Given the description of an element on the screen output the (x, y) to click on. 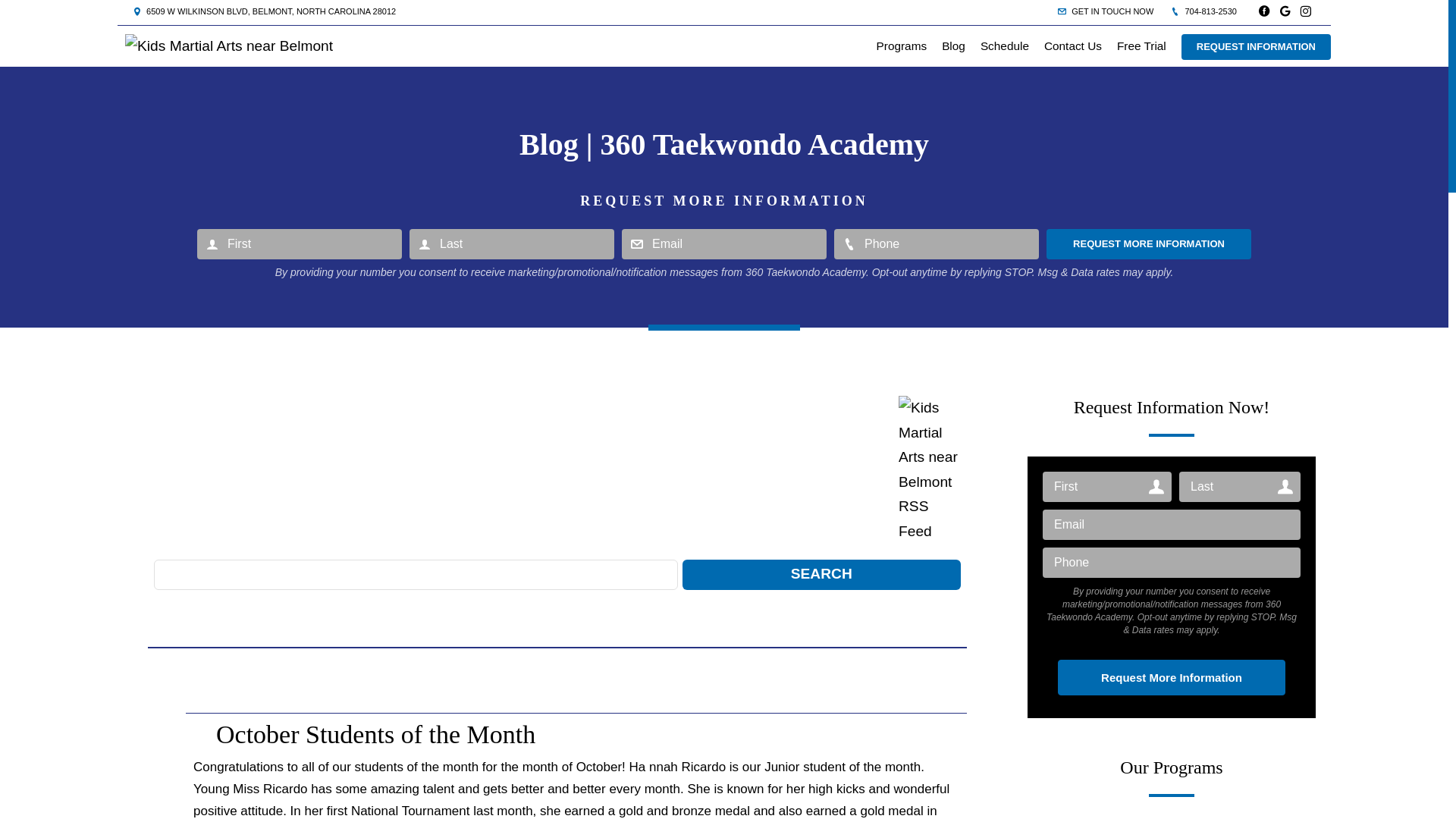
GET IN TOUCH NOW Element type: text (1105, 10)
Blog Element type: text (953, 45)
REQUEST INFORMATION Element type: text (1255, 46)
Required Element type: hover (1171, 524)
Request More Information Element type: text (1171, 677)
Required Element type: hover (1171, 562)
Required Element type: hover (723, 244)
704-813-2530 Element type: text (1203, 10)
Programs Element type: text (902, 45)
Required Element type: hover (936, 244)
Last Element type: hover (511, 244)
First Element type: hover (1106, 486)
Search Element type: text (821, 574)
Schedule Element type: text (1004, 45)
October Students of the Month Element type: text (375, 734)
Last Element type: hover (1239, 486)
Request More Information Element type: text (1148, 244)
First Element type: hover (299, 244)
Contact Us Element type: text (1072, 45)
Free Trial Element type: text (1141, 45)
